Given the description of an element on the screen output the (x, y) to click on. 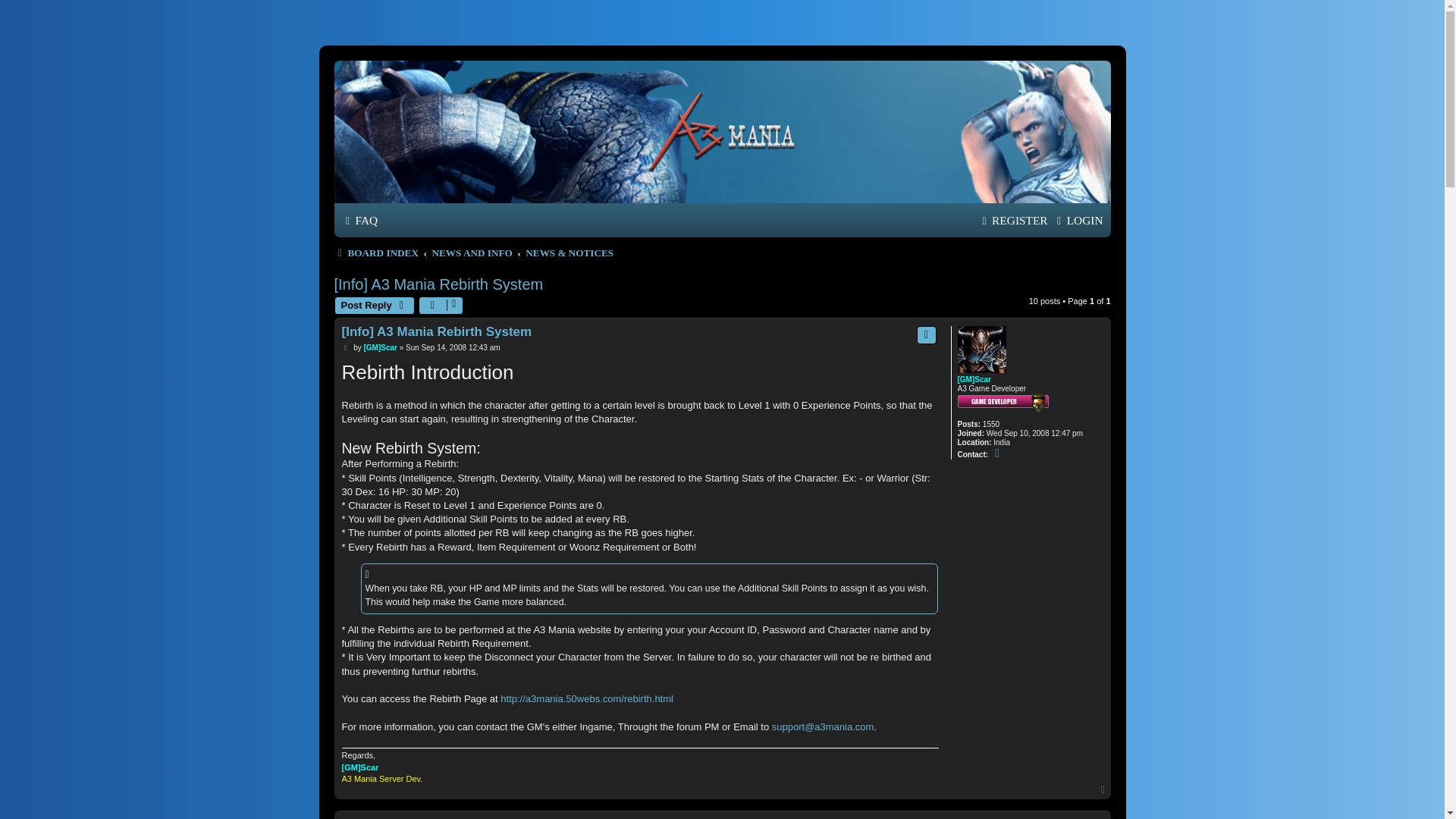
LOGIN (1077, 220)
Frequently Asked Questions (358, 220)
Board index (722, 131)
FAQ (358, 220)
Post (345, 347)
Post (345, 347)
Login (1077, 220)
Board index (375, 252)
Top (1103, 789)
Top (1103, 789)
REGISTER (1013, 220)
Quote (926, 334)
Topic tools (441, 305)
NEWS AND INFO (472, 252)
A3 Game Developer (1002, 402)
